Given the description of an element on the screen output the (x, y) to click on. 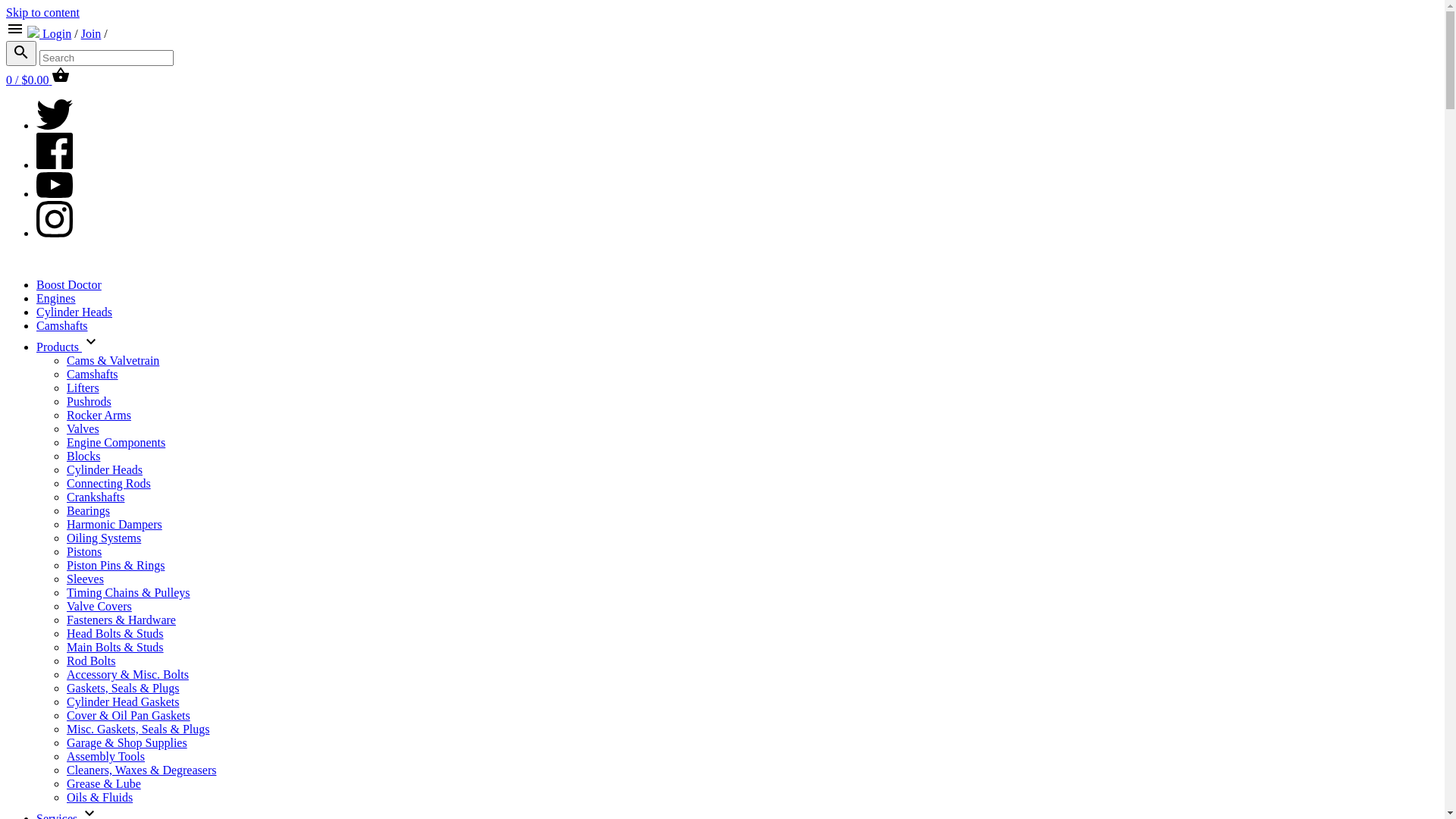
Cover & Oil Pan Gaskets Element type: text (128, 715)
Engines Element type: text (55, 297)
Main Bolts & Studs Element type: text (114, 646)
Pistons Element type: text (83, 551)
Cylinder Heads Element type: text (104, 469)
Assembly Tools Element type: text (105, 755)
Gaskets, Seals & Plugs Element type: text (122, 687)
Crankshafts Element type: text (95, 496)
Join Element type: text (91, 33)
Rod Bolts Element type: text (90, 660)
Lifters Element type: text (82, 387)
Youtube Element type: text (54, 193)
Cams & Valvetrain Element type: text (112, 360)
Head Bolts & Studs Element type: text (114, 633)
Cleaners, Waxes & Degreasers Element type: text (141, 769)
Cylinder Head Gaskets Element type: text (122, 701)
Garage & Shop Supplies Element type: text (126, 742)
Timing Chains & Pulleys Element type: text (128, 592)
Connecting Rods Element type: text (108, 482)
Piston Pins & Rings Element type: text (115, 564)
Blocks Element type: text (83, 455)
Cylinder Heads Element type: text (74, 311)
Rocker Arms Element type: text (98, 414)
Oils & Fluids Element type: text (99, 796)
Camshafts Element type: text (92, 373)
Accessory & Misc. Bolts Element type: text (127, 674)
Login Element type: text (56, 33)
Twitter Element type: text (54, 125)
Valves Element type: text (82, 428)
Pushrods Element type: text (88, 401)
0 / $0.00 Cart Element type: text (37, 79)
Instagram Element type: text (54, 232)
Facebook Element type: text (54, 164)
Grease & Lube Element type: text (103, 783)
Bearings Element type: text (87, 510)
Oiling Systems Element type: text (103, 537)
Valve Covers Element type: text (98, 605)
Harmonic Dampers Element type: text (114, 523)
Products Element type: text (68, 346)
Engine Components Element type: text (115, 442)
Misc. Gaskets, Seals & Plugs Element type: text (137, 728)
Skip to content Element type: text (42, 12)
Fasteners & Hardware Element type: text (120, 619)
Search Element type: text (21, 52)
Camshafts Element type: text (61, 325)
Sleeves Element type: text (84, 578)
Boost Doctor Element type: text (68, 284)
